Given the description of an element on the screen output the (x, y) to click on. 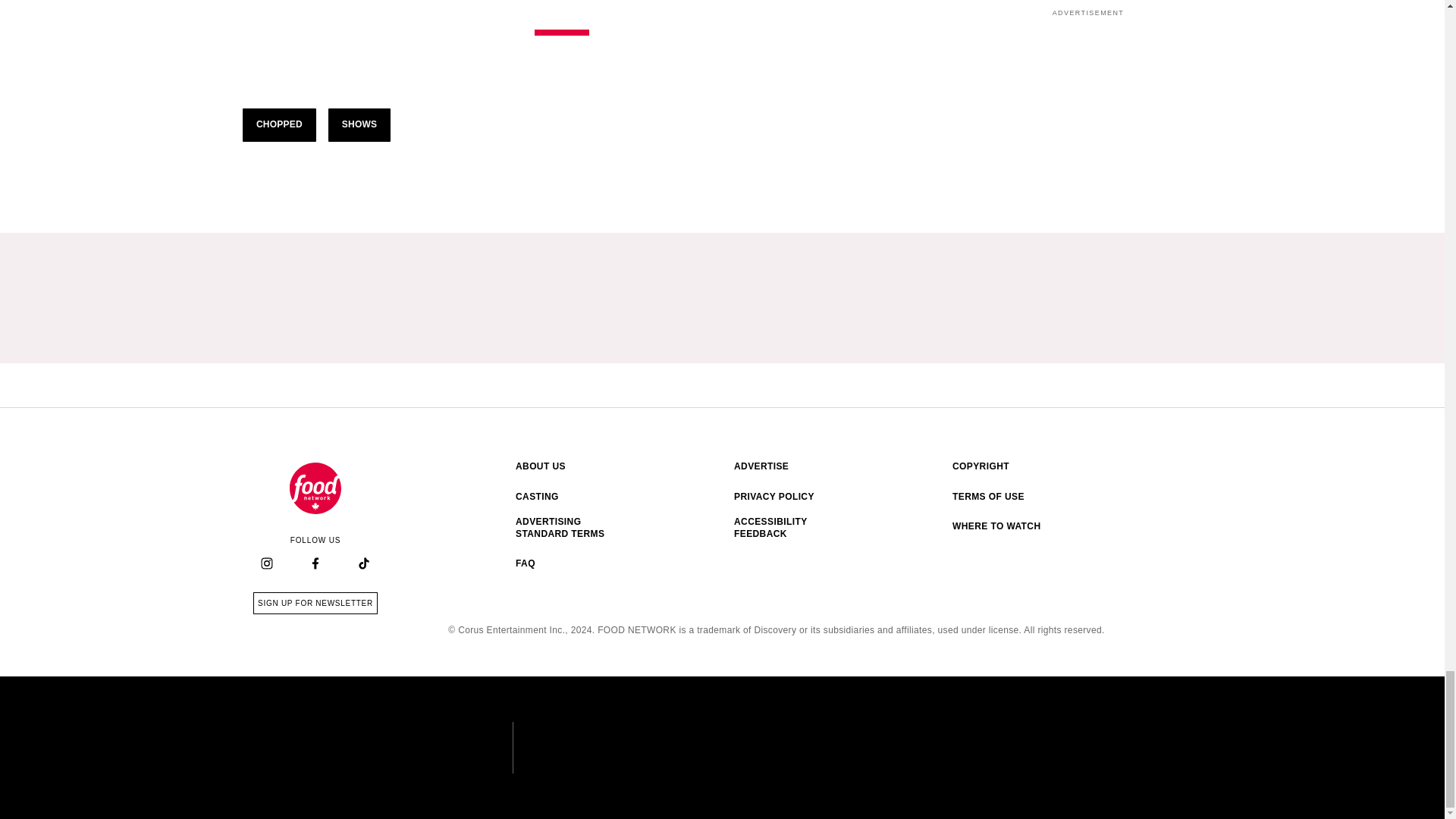
Instagram (266, 563)
CHOPPED (279, 124)
SHOWS (359, 124)
Food Network Canada home (315, 603)
Follow Food Network Canada on Instagram (314, 488)
Follow Food Network Canada on Facebook (267, 564)
